Given the description of an element on the screen output the (x, y) to click on. 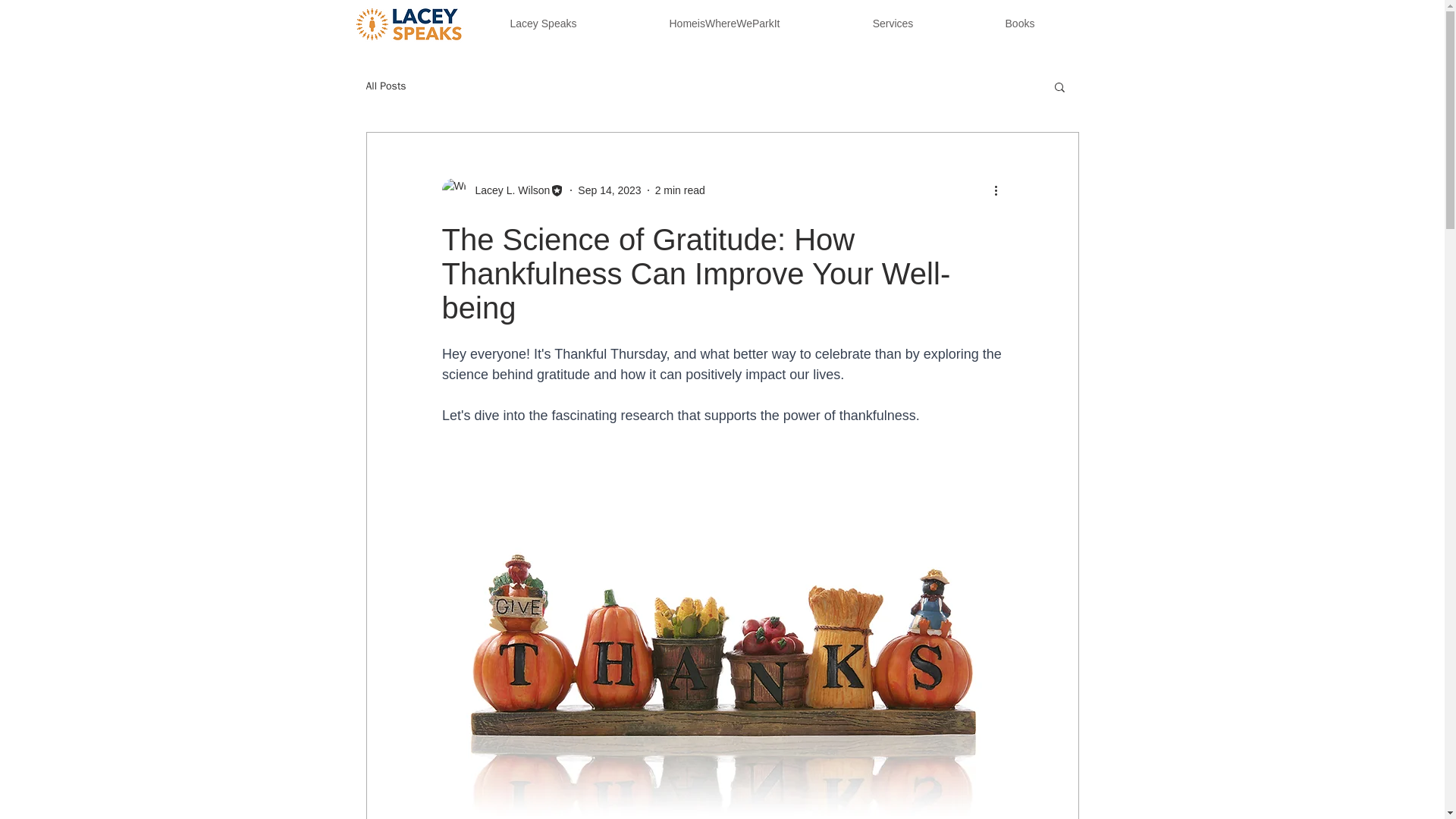
All Posts (385, 86)
Books (1019, 23)
Lacey Speaks (542, 23)
Sep 14, 2023 (609, 189)
HomeisWhereWeParkIt (724, 23)
Services (892, 23)
Lacey L. Wilson (507, 189)
Lacey L. Wilson (502, 190)
2 min read (679, 189)
